Given the description of an element on the screen output the (x, y) to click on. 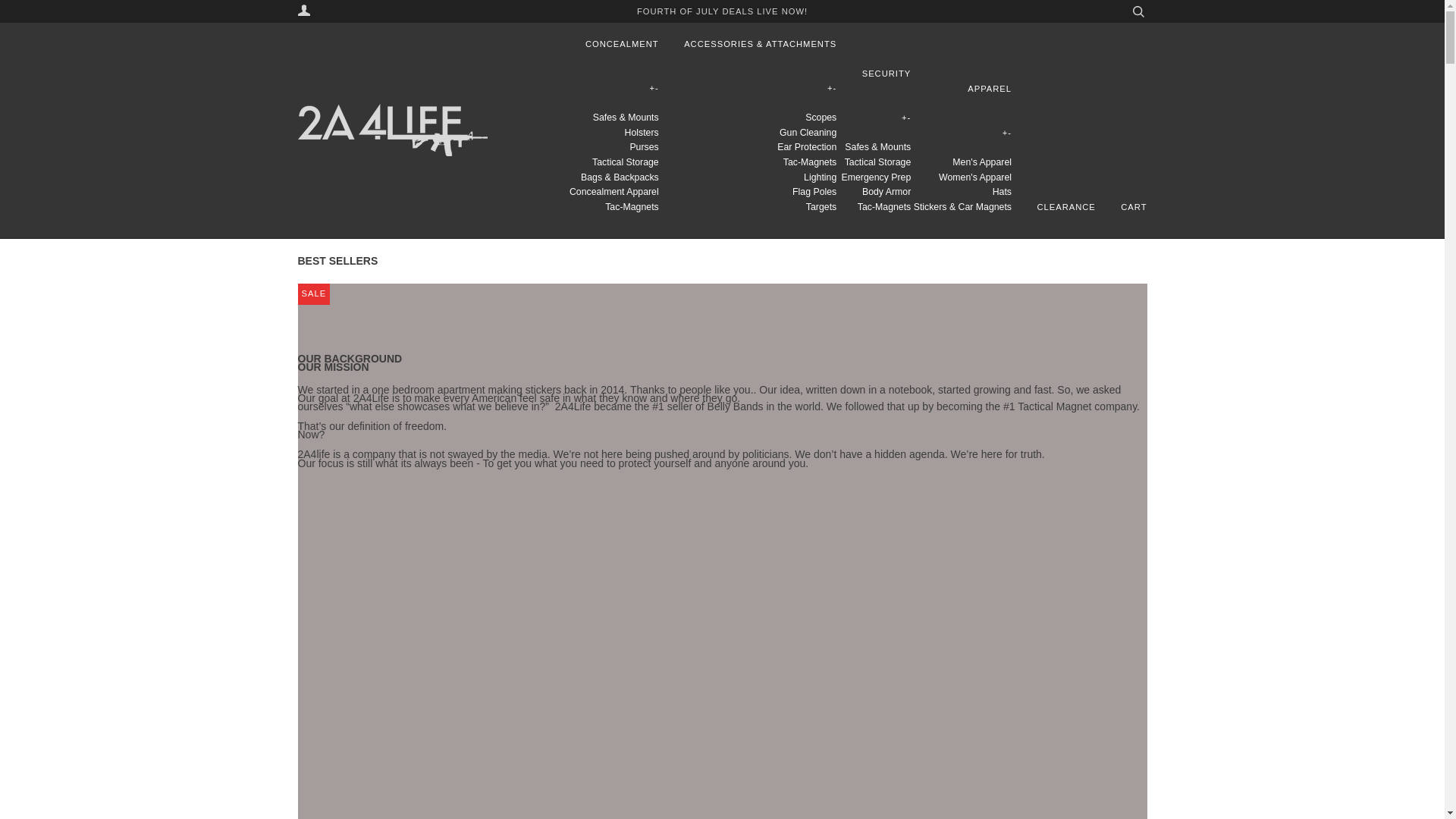
Concealment Apparel (610, 191)
Purses (639, 146)
SECURITY (875, 74)
Tac-Magnets (884, 206)
Hats (1001, 191)
FOURTH OF JULY DEALS LIVE NOW! (722, 10)
Ear Protection (806, 146)
Targets (820, 206)
CONCEALMENT (610, 44)
Scopes (820, 117)
CLEARANCE (1053, 207)
Tac-Magnets (809, 162)
Lighting (819, 176)
Search (1137, 11)
Gun Cleaning (806, 132)
